Given the description of an element on the screen output the (x, y) to click on. 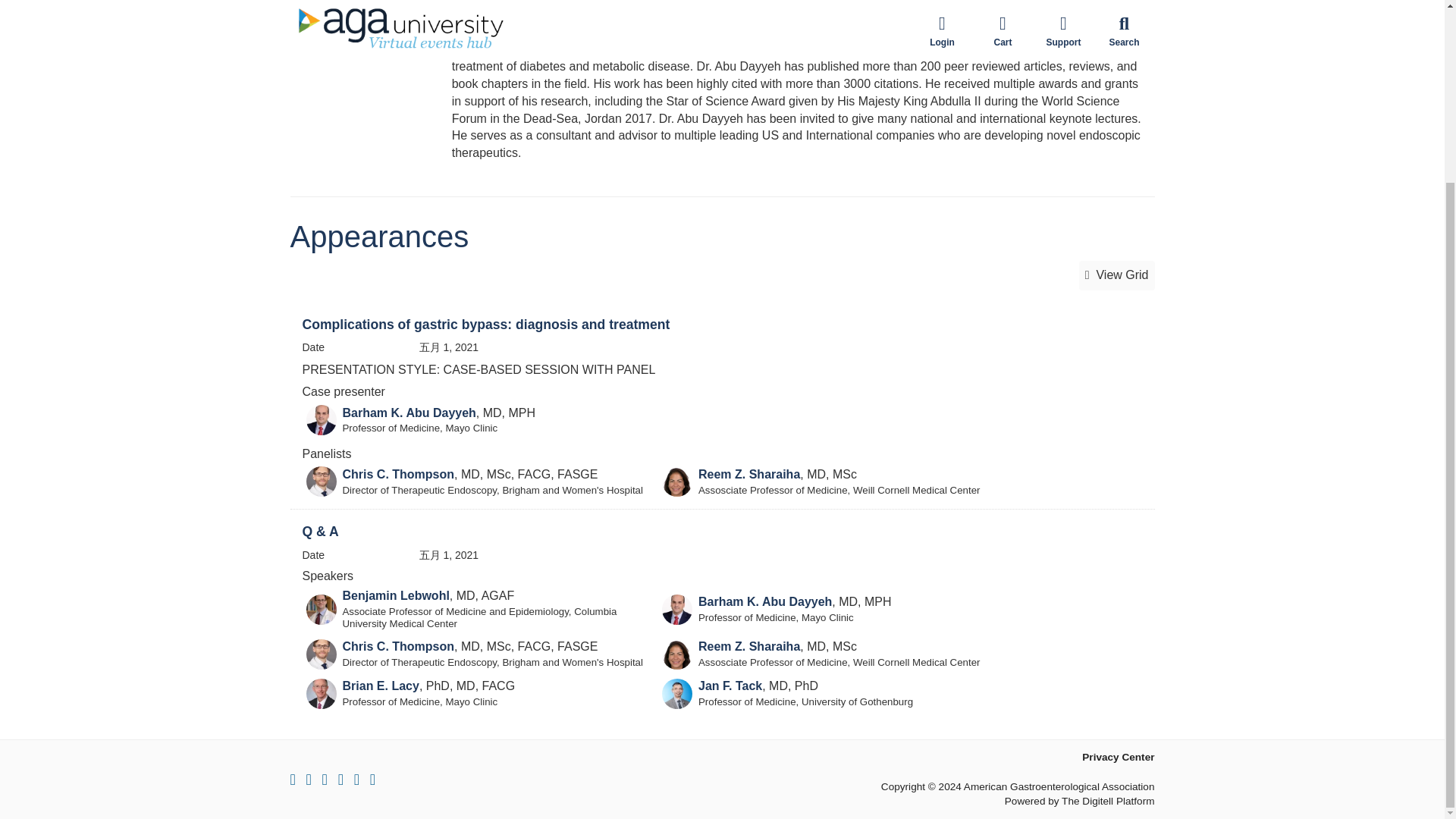
Barham K. Abu Dayyeh (409, 412)
Complications of gastric bypass: diagnosis and treatment (485, 324)
Speaker Image for Chris Thompson (320, 654)
Benjamin Lebwohl (395, 594)
Reem Z. Sharaiha (748, 473)
Jan F. Tack (729, 685)
Speaker Image for Barham Abu Dayyeh (320, 419)
Chris C. Thompson (398, 473)
Speaker Image for Chris Thompson (320, 481)
Reem Z. Sharaiha (748, 645)
Privacy Center (1117, 756)
Speaker Image for Reem Sharaiha (677, 481)
Chris C. Thompson (398, 645)
Speaker Image for Brian Lacy (320, 693)
Barham K. Abu Dayyeh (764, 601)
